Given the description of an element on the screen output the (x, y) to click on. 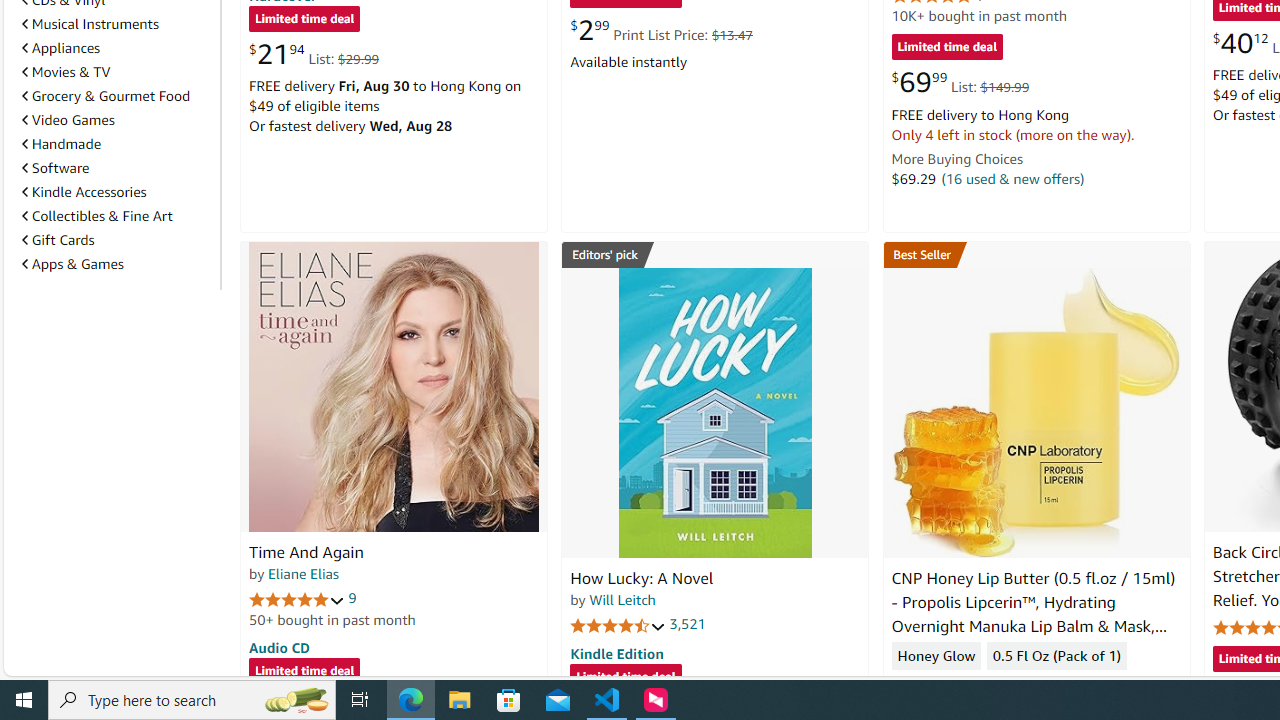
Video Games (68, 119)
Movies & TV (66, 71)
$69.99 List: $149.99 (960, 82)
Audio CD (279, 646)
Grocery & Gourmet Food (105, 96)
Best Seller in Lip Butters (1036, 254)
Appliances (117, 48)
Collectibles & Fine Art (96, 215)
Kindle Accessories (117, 192)
Handmade (117, 143)
$21.94 List: $29.99 (314, 54)
Software (55, 168)
Limited time deal (625, 678)
